Given the description of an element on the screen output the (x, y) to click on. 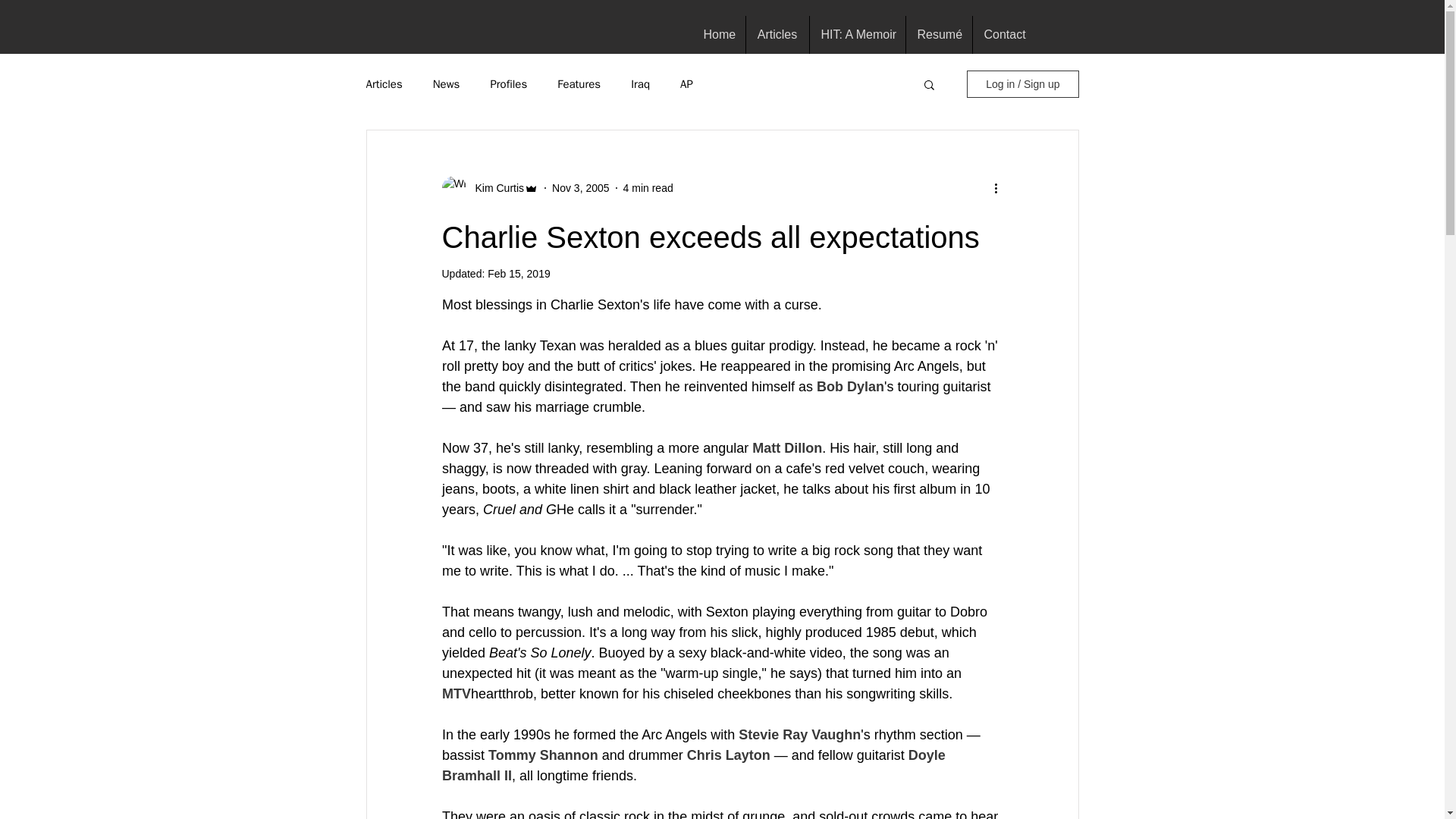
Iraq (639, 83)
AP (686, 83)
News (446, 83)
Matt Dillon (787, 447)
Tommy Shannon (542, 754)
Bob Dylan (849, 386)
Chris Layton (727, 754)
MTV (455, 693)
Kim Curtis (494, 188)
Doyle Bramhall II (695, 764)
